Given the description of an element on the screen output the (x, y) to click on. 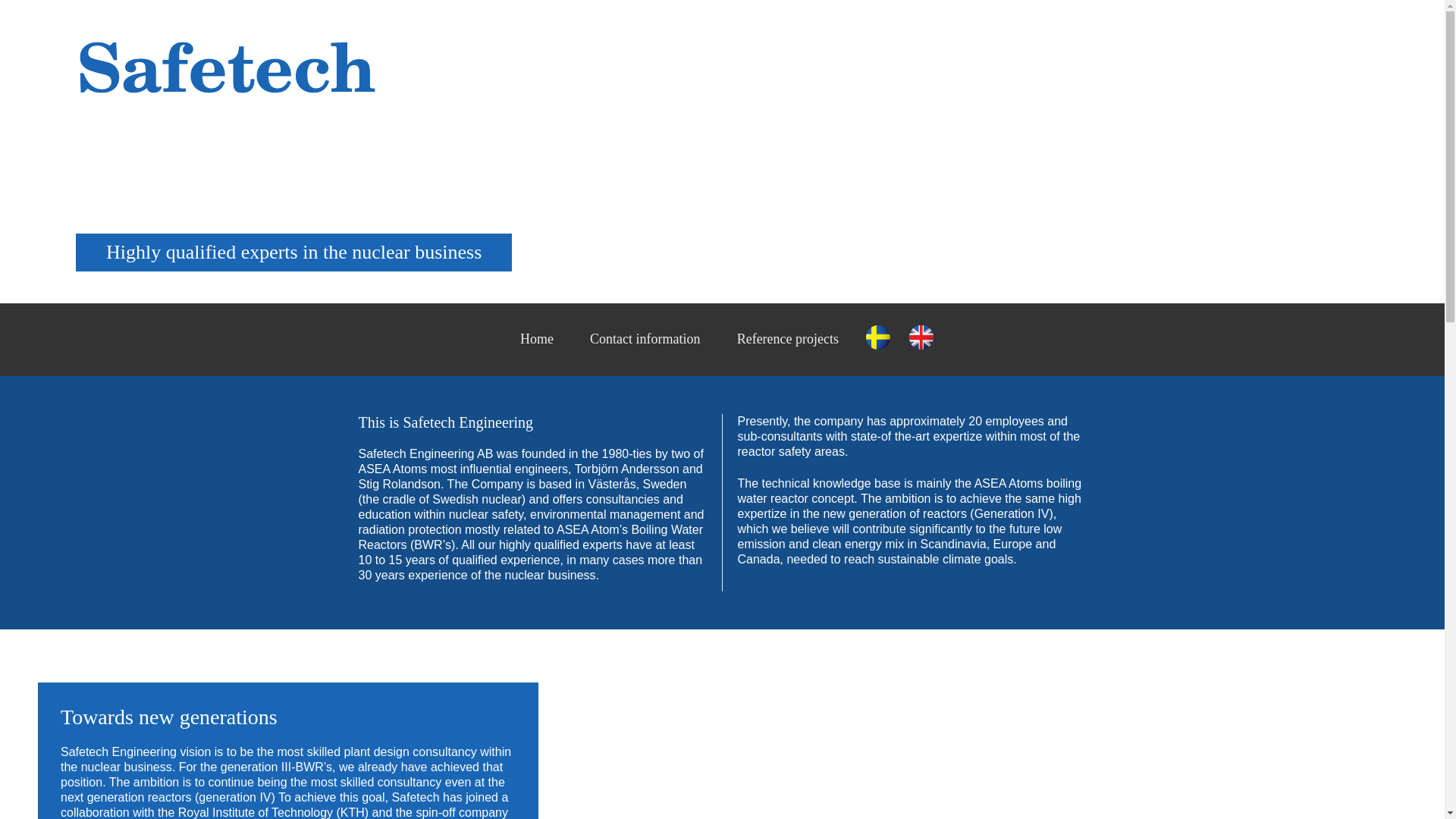
Reference projects (788, 339)
Contact information (644, 339)
Home (536, 339)
